Given the description of an element on the screen output the (x, y) to click on. 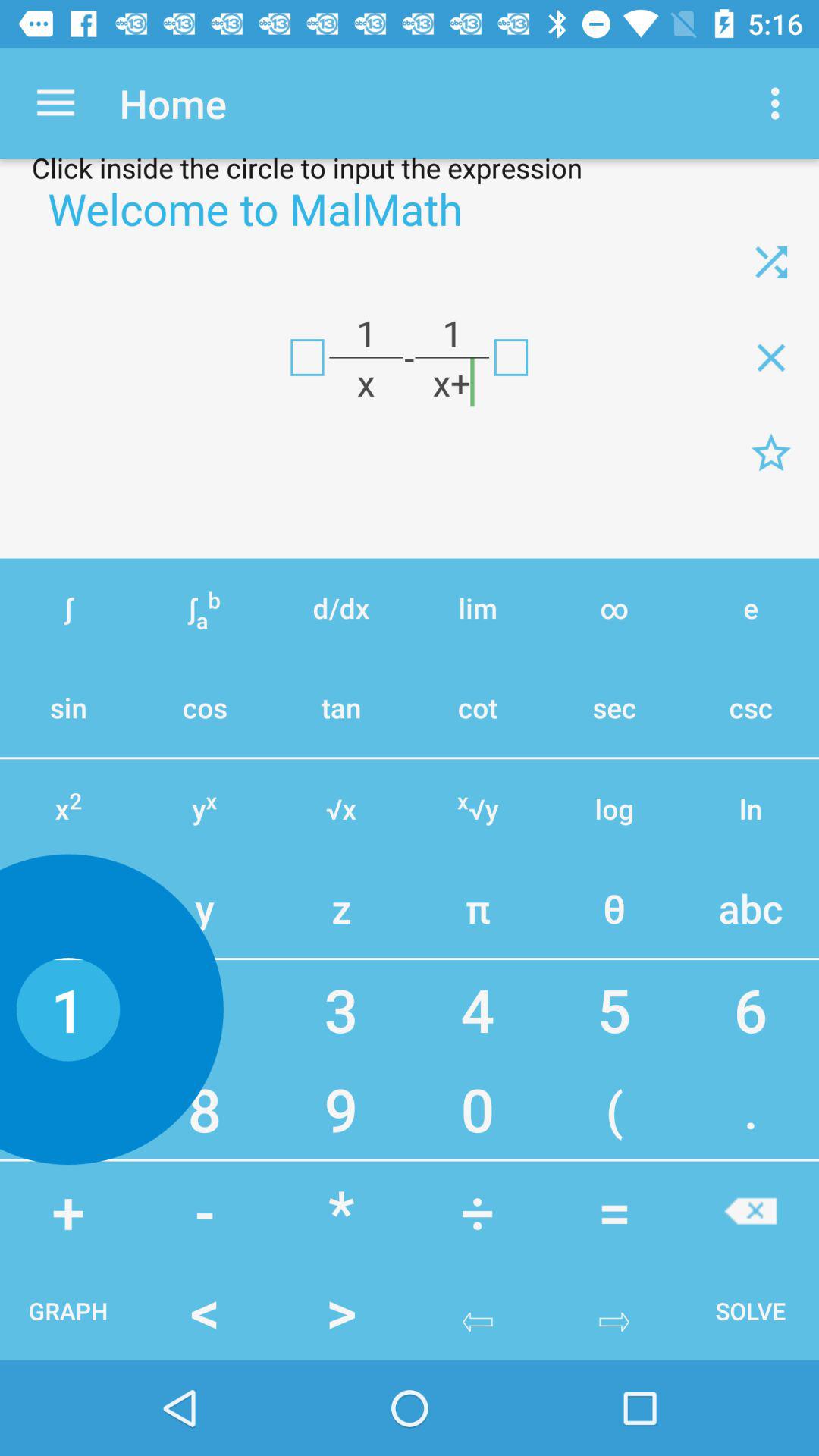
insert mathematical variable field (307, 357)
